Given the description of an element on the screen output the (x, y) to click on. 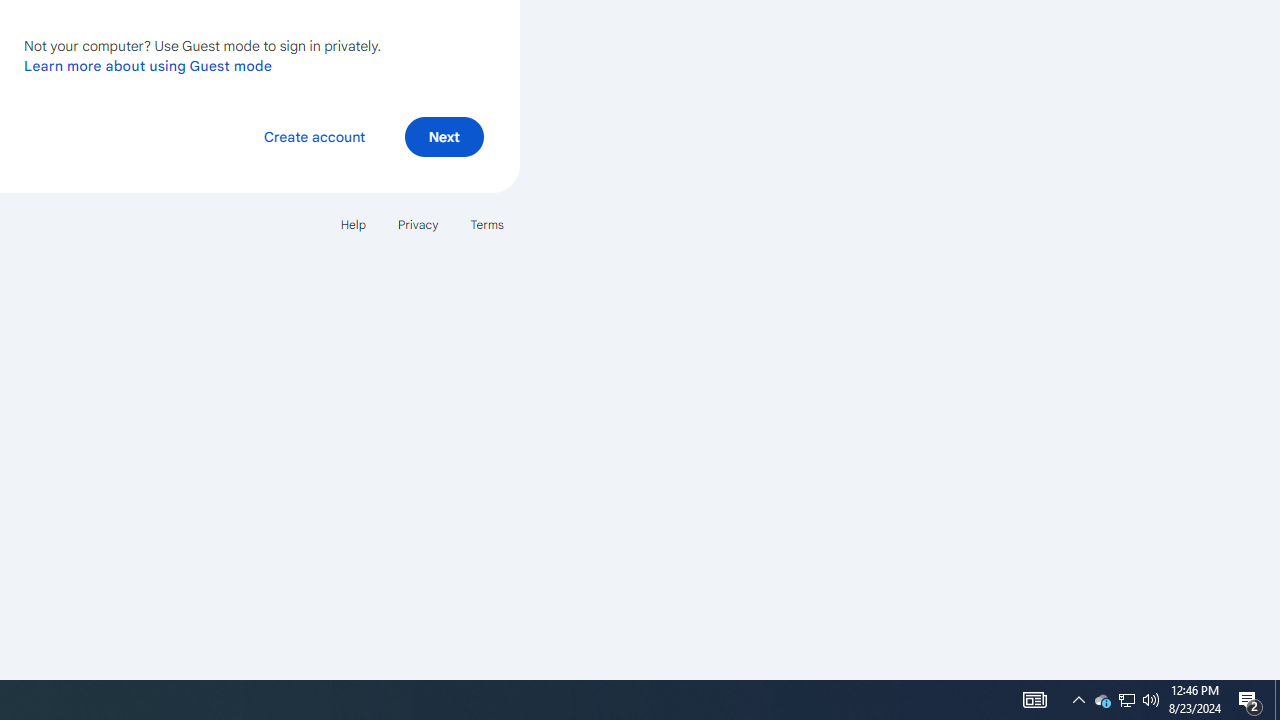
Create account (314, 135)
Learn more about using Guest mode (148, 65)
